Given the description of an element on the screen output the (x, y) to click on. 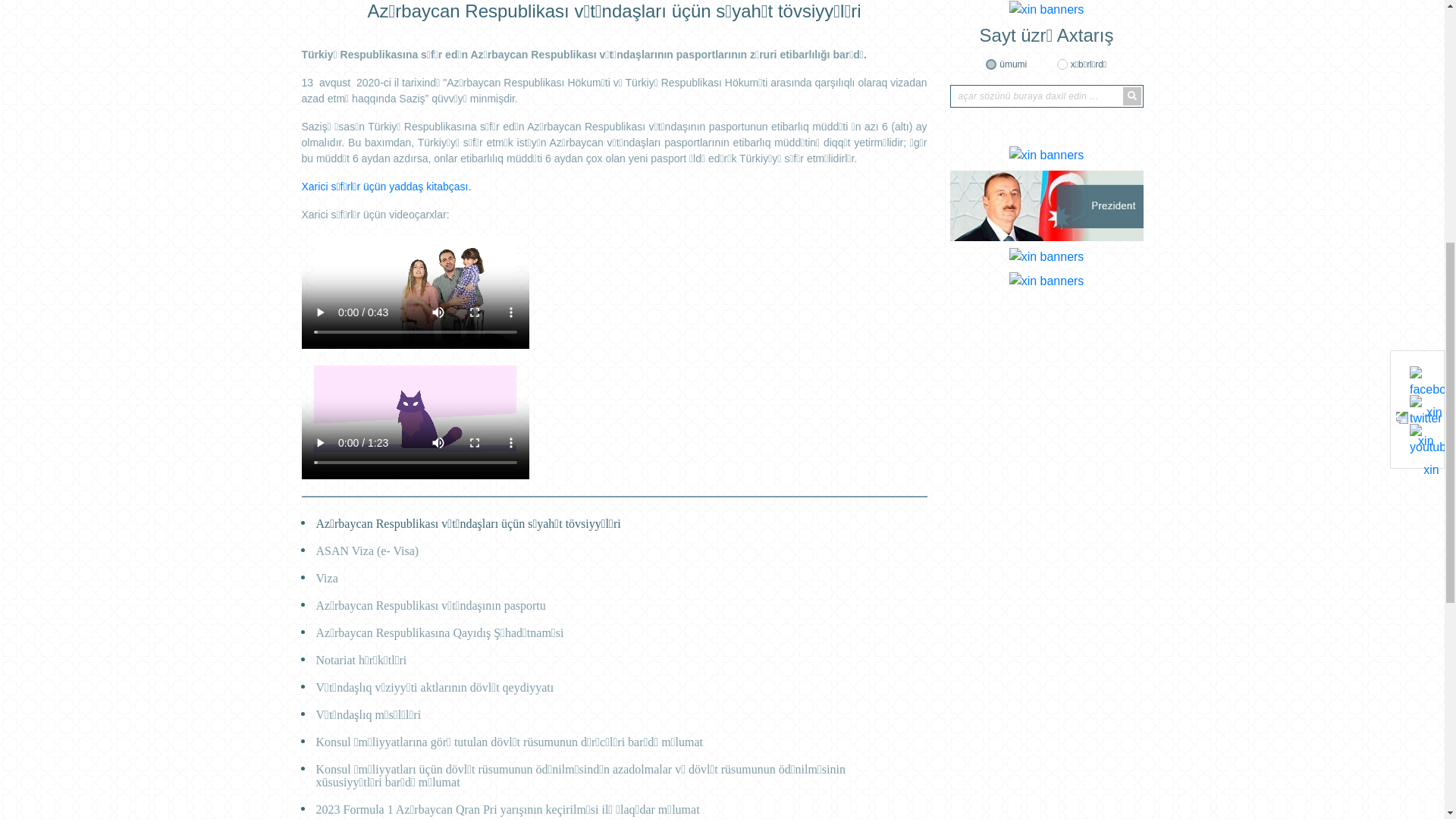
RO Element type: text (1108, 103)
AZ Element type: text (1083, 103)
EN Element type: text (1132, 103)
